Given the description of an element on the screen output the (x, y) to click on. 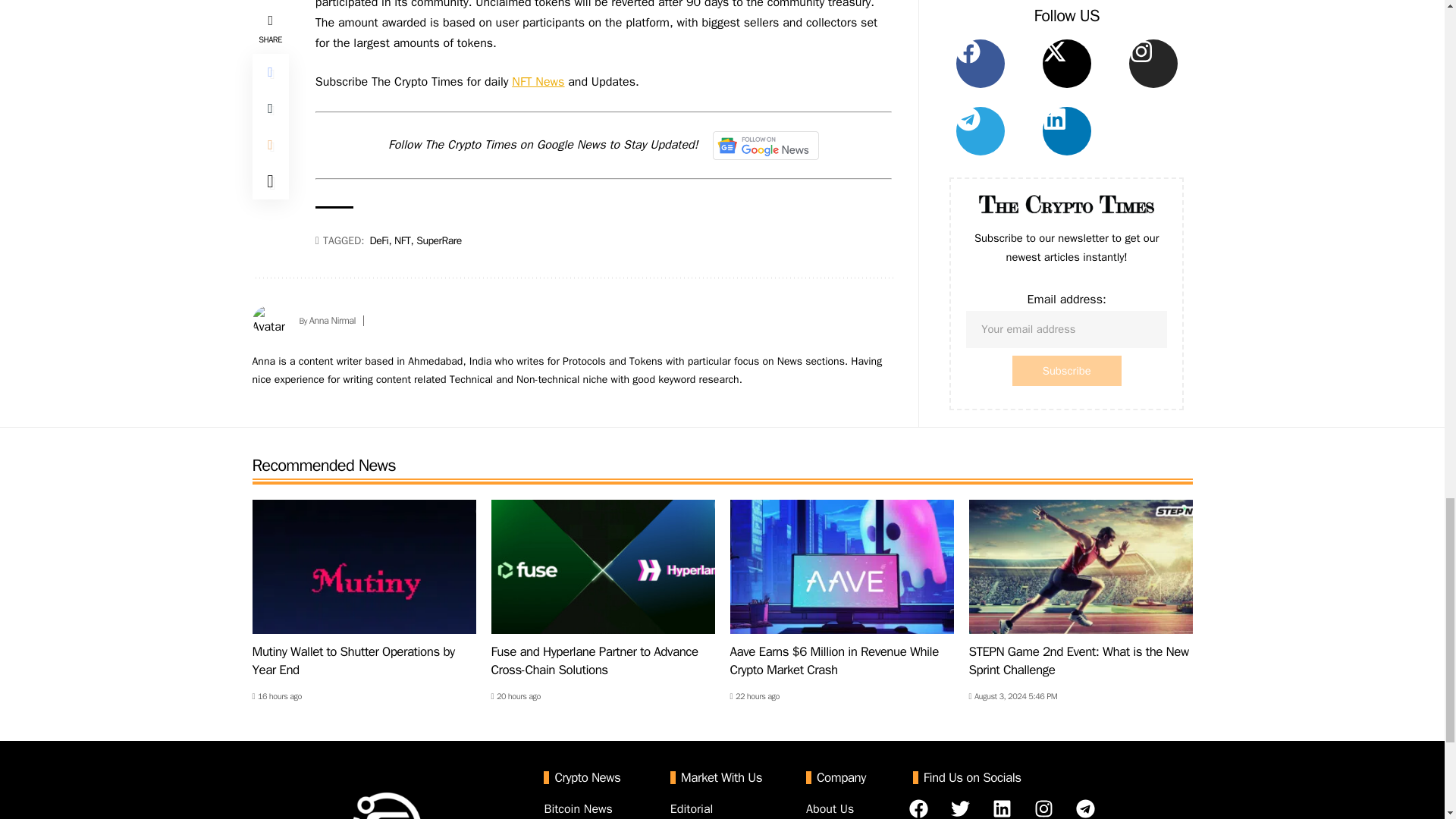
STEPN Game 2nd Event: What is the New Sprint Challenge (1080, 565)
Fuse and Hyperlane Partner to Advance Cross-Chain Solutions (603, 565)
Mutiny Wallet to Shutter Operations by Year End (363, 565)
